Given the description of an element on the screen output the (x, y) to click on. 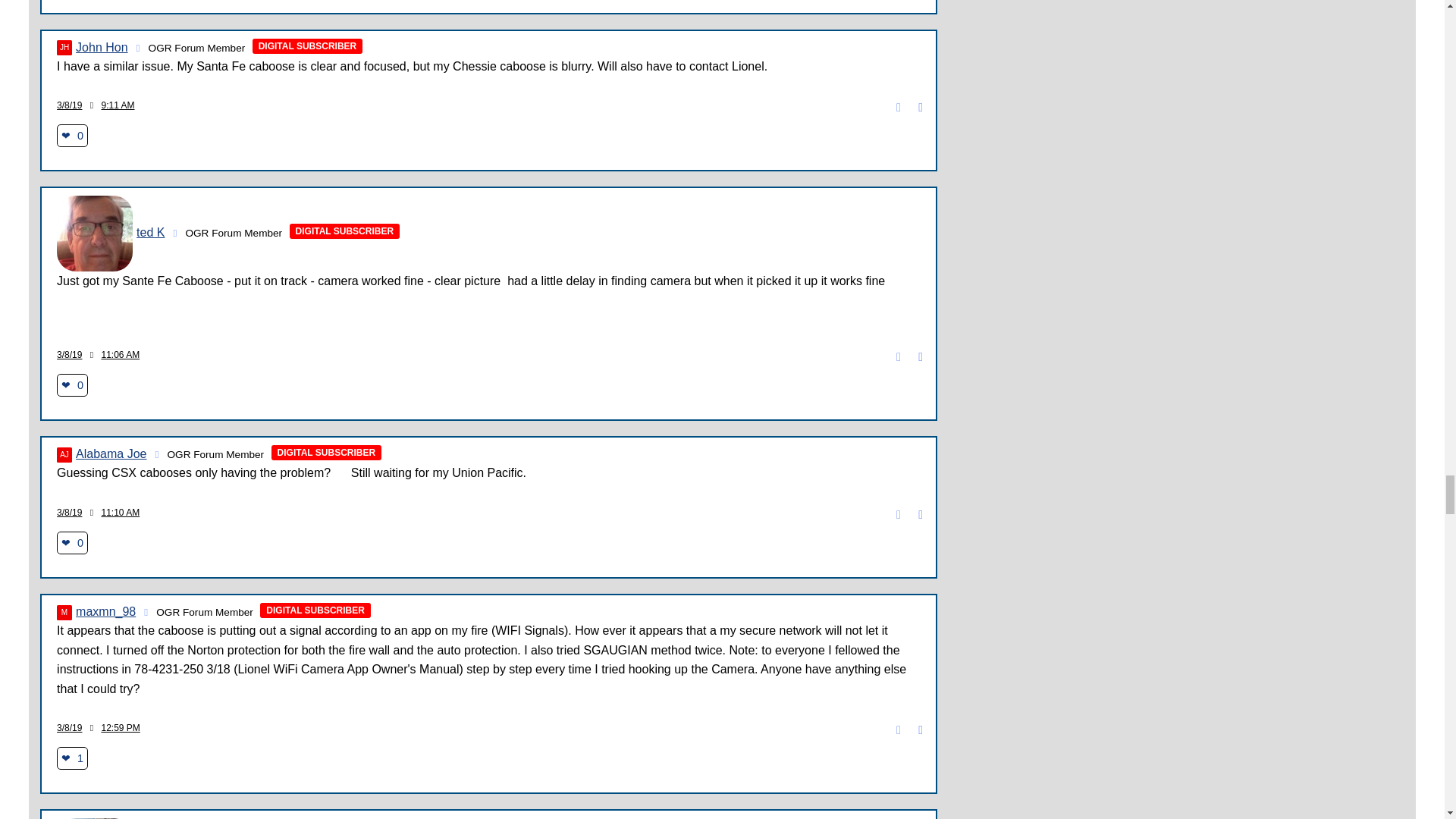
AJ (63, 454)
JH (63, 47)
M (63, 612)
